Given the description of an element on the screen output the (x, y) to click on. 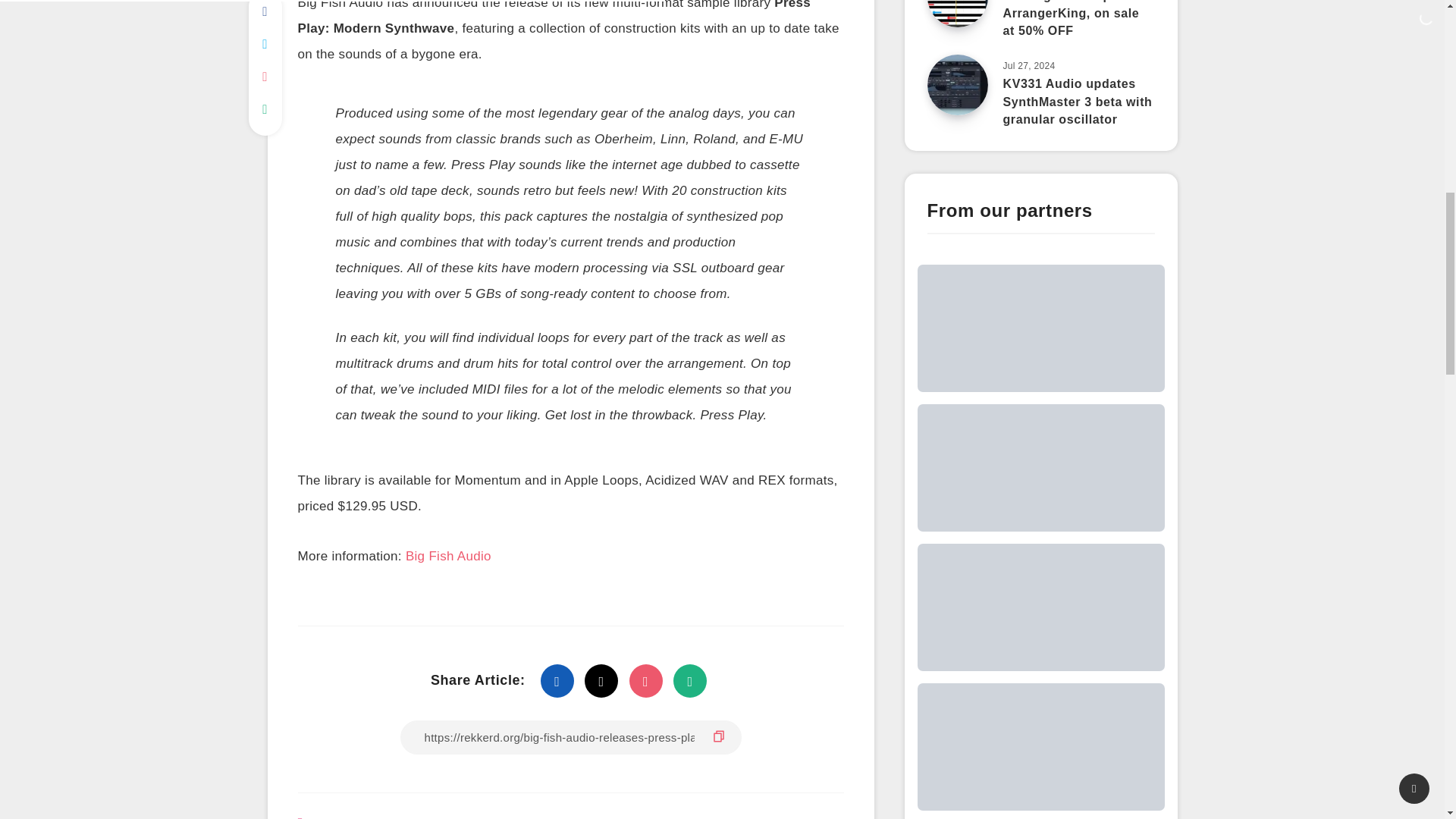
synthwave (418, 817)
Big Fish Audio (344, 817)
Big Fish Audio (449, 557)
